Given the description of an element on the screen output the (x, y) to click on. 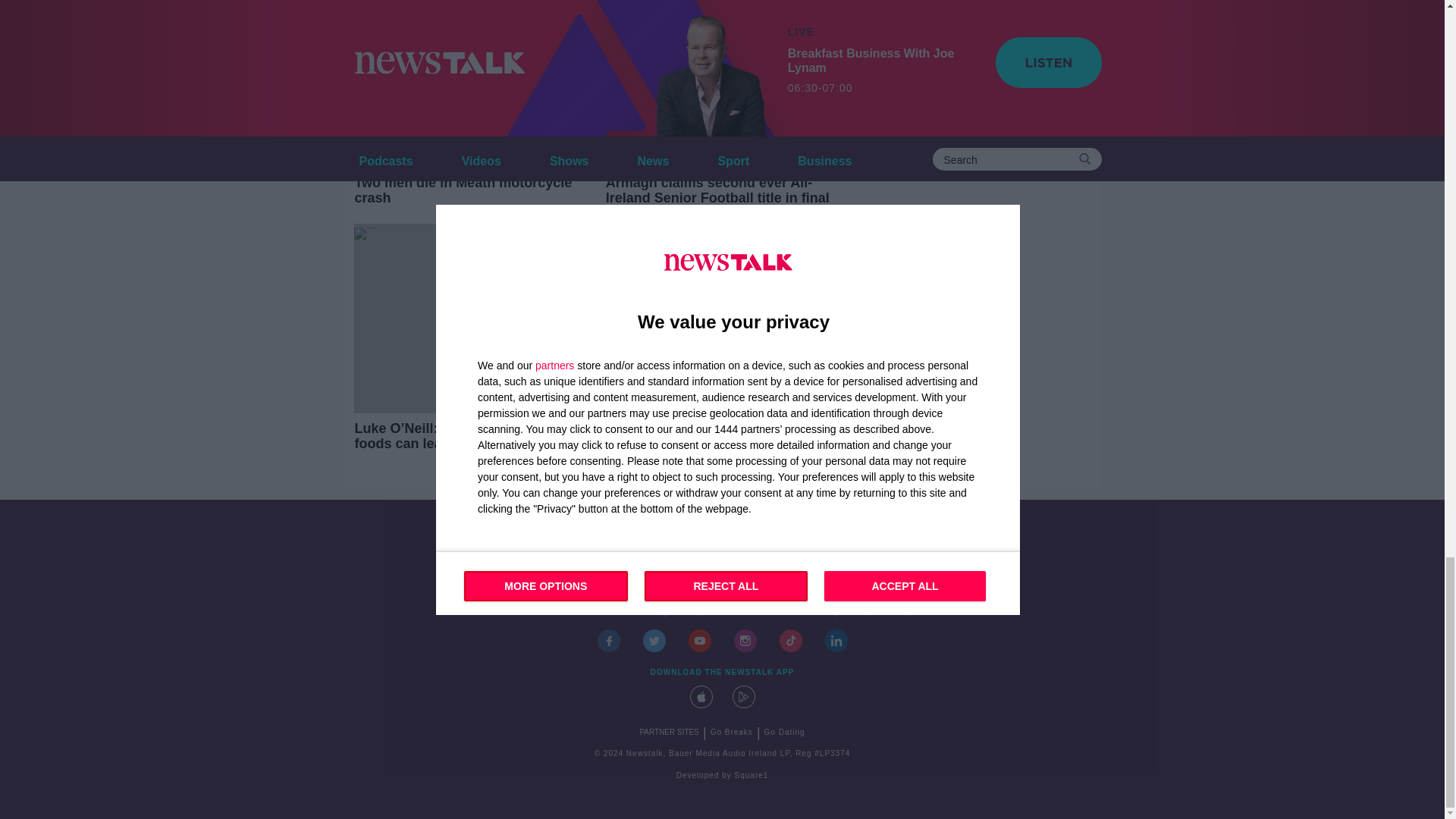
contact (547, 612)
advertising (644, 612)
site terms (772, 612)
Privacy Policy (838, 612)
events (592, 612)
competitions (708, 612)
Privacy (897, 612)
